Given the description of an element on the screen output the (x, y) to click on. 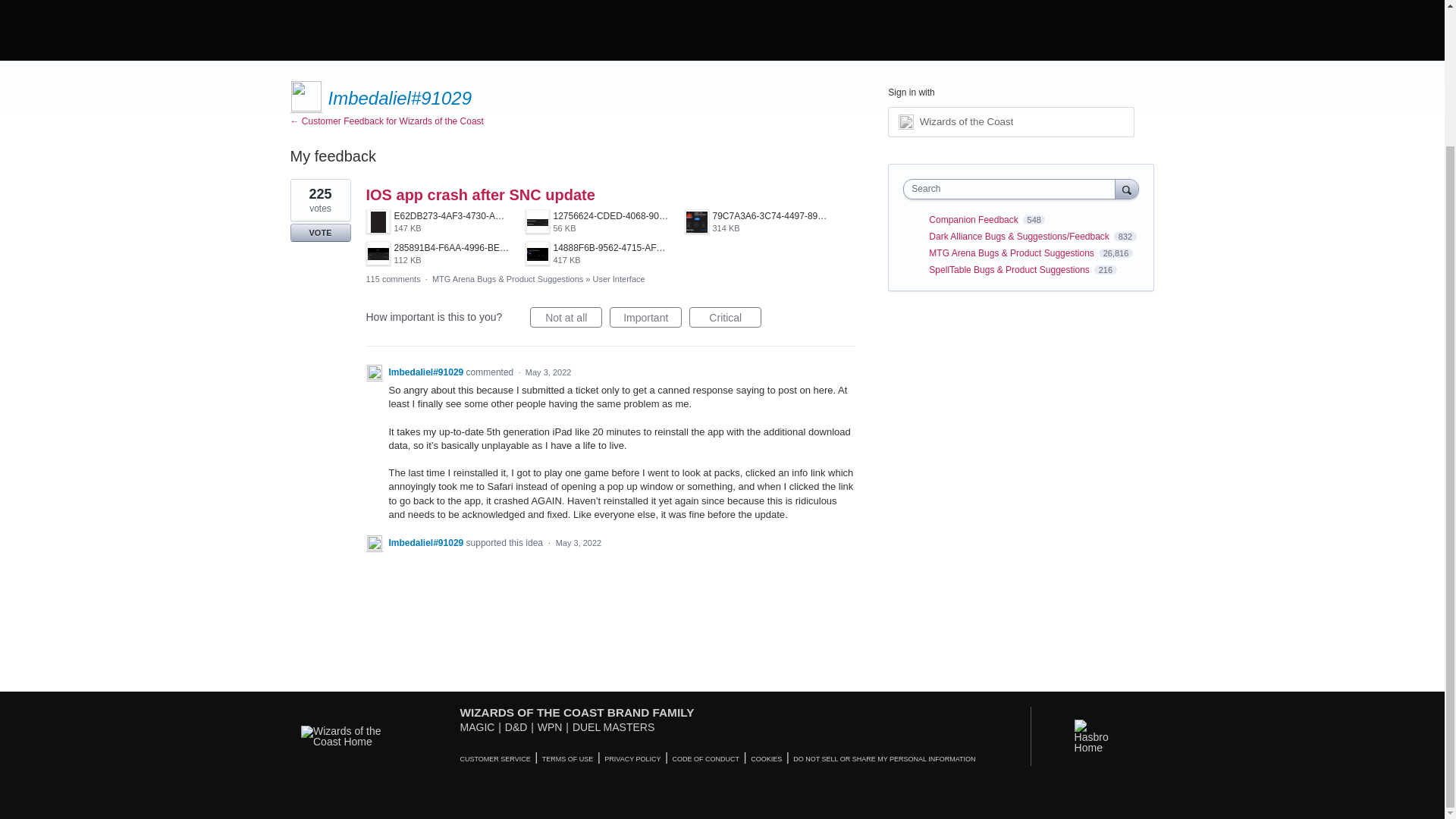
Critical (756, 221)
User Interface (724, 317)
View 14888F6B-9562-4715-AF90-E523AD8B81D6.jpeg (618, 278)
Wizards of the Coast sign in (596, 253)
Wizards of the Coast (596, 253)
115 comments (1011, 122)
IOS app crash after SNC update (966, 121)
